Given the description of an element on the screen output the (x, y) to click on. 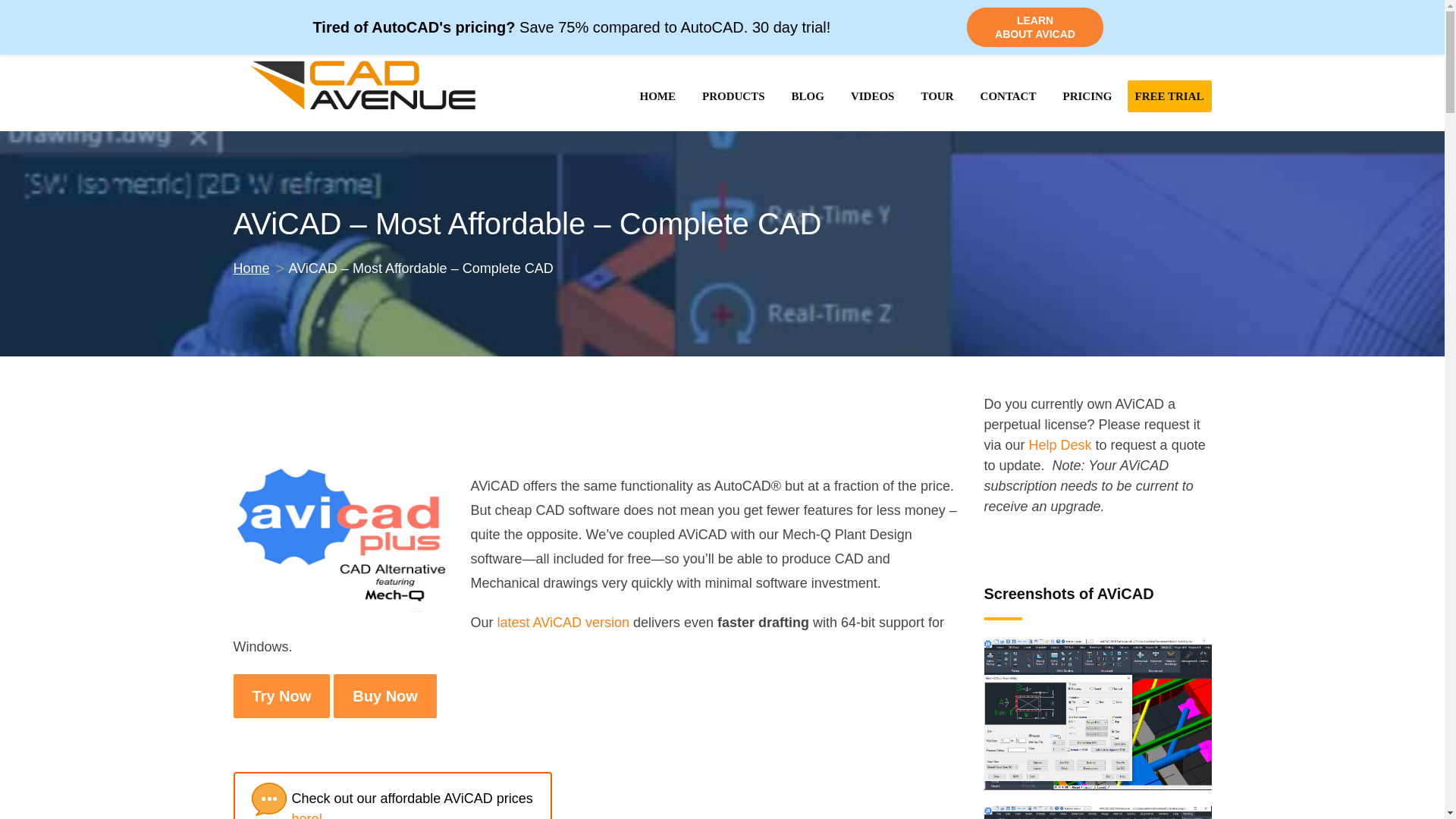
Buy Now (384, 696)
Try Now (281, 696)
Help Desk (1060, 444)
latest AViCAD version (562, 622)
Home (250, 268)
HOME (657, 96)
CONTACT (1008, 96)
FREE TRIAL (1168, 96)
Try Now (281, 696)
here! (306, 815)
Buy Now (384, 696)
PRODUCTS (733, 96)
VIDEOS (872, 96)
PRICING (1086, 96)
BLOG (807, 96)
